Given the description of an element on the screen output the (x, y) to click on. 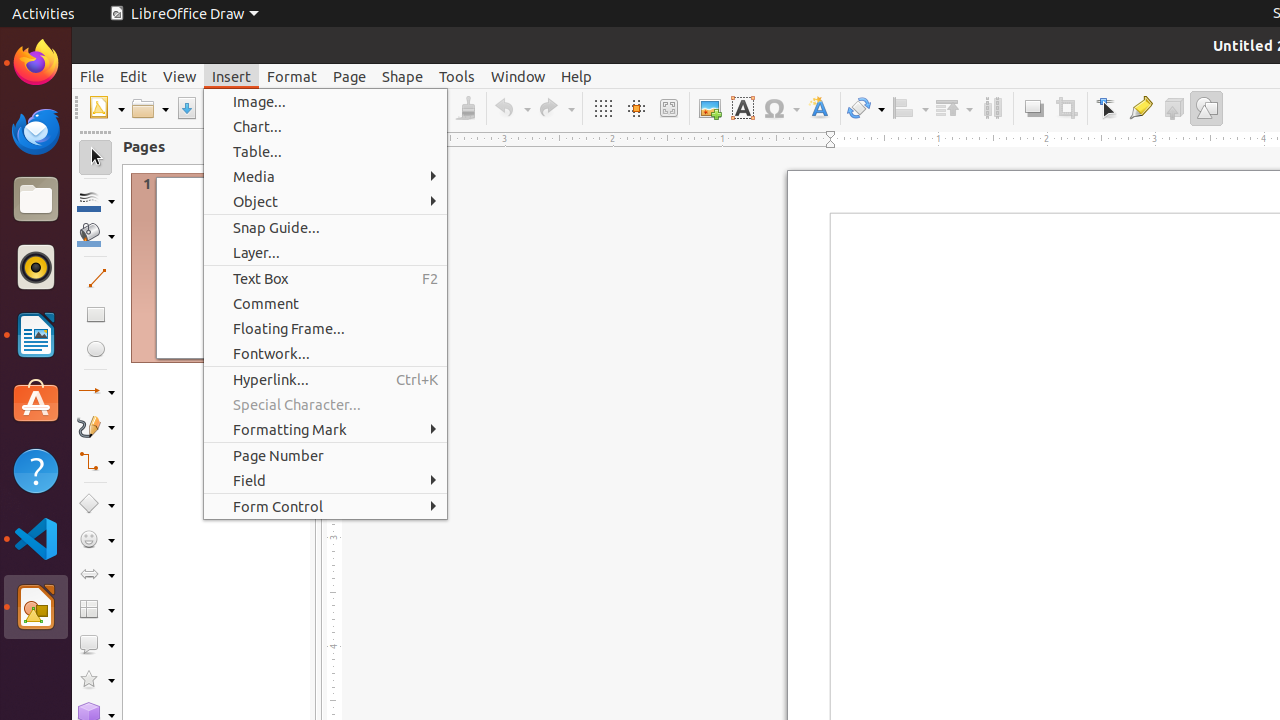
Curves and Polygons Element type: push-button (96, 426)
Files Element type: push-button (36, 199)
Object Element type: menu (325, 201)
Line Element type: push-button (95, 278)
Transformations Element type: push-button (866, 108)
